Given the description of an element on the screen output the (x, y) to click on. 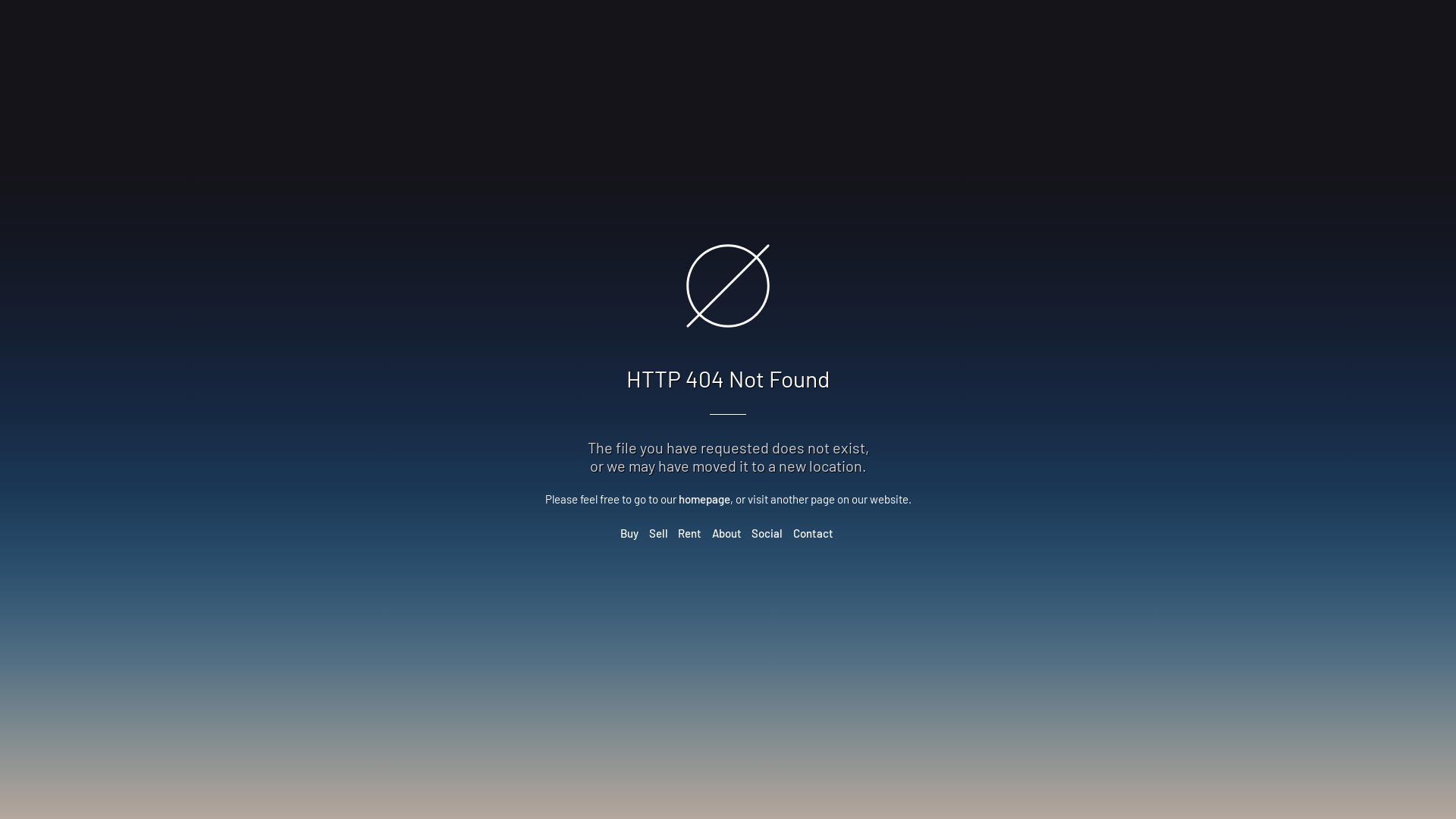
homepage Element type: text (703, 498)
Buy Element type: text (629, 532)
Social Element type: text (766, 532)
Sell Element type: text (658, 532)
Rent Element type: text (689, 532)
About Element type: text (726, 532)
Contact Element type: text (813, 532)
